Given the description of an element on the screen output the (x, y) to click on. 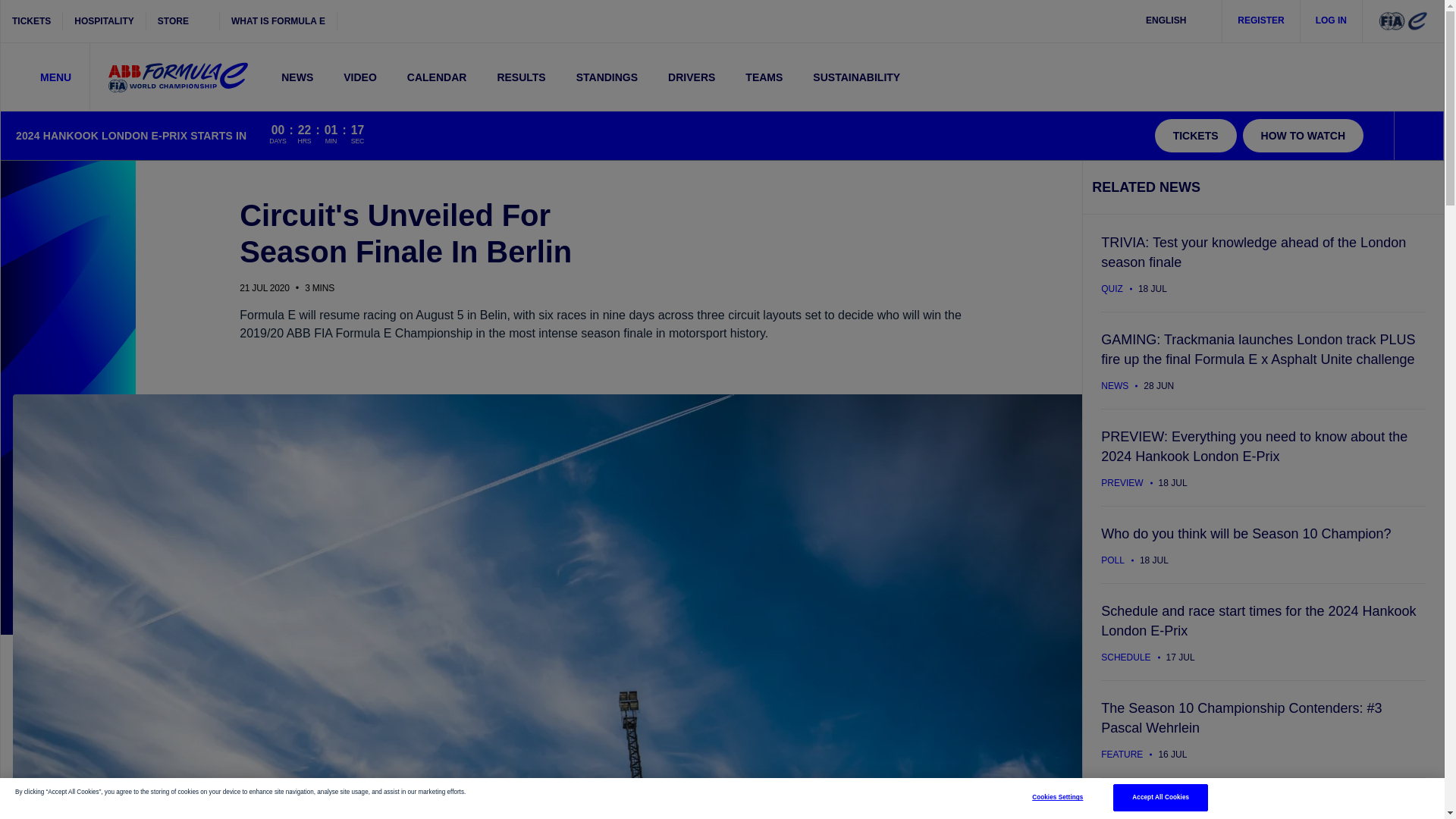
STORE (183, 21)
VIDEO (360, 76)
CALENDAR (436, 76)
HOSPITALITY (103, 21)
Who do you think will be Season 10 Champion? (1262, 544)
label.menu.home.link (177, 77)
STANDINGS (606, 76)
TICKETS (31, 21)
NEWS (297, 76)
WHAT IS FORMULA E (278, 21)
RESULTS (520, 76)
ENGLISH (1175, 20)
LOG IN (1331, 21)
